Given the description of an element on the screen output the (x, y) to click on. 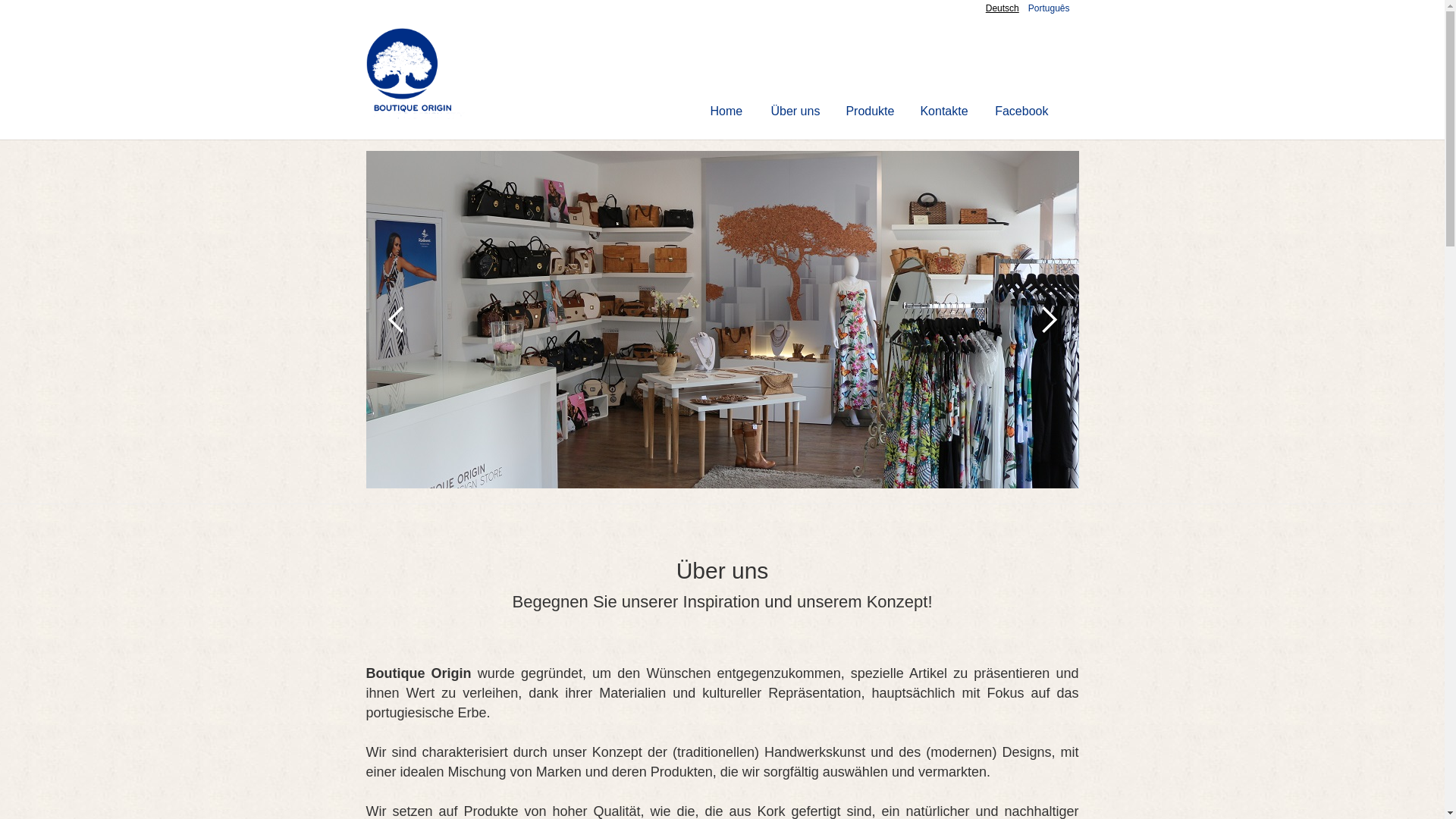
Kontakte Element type: text (943, 111)
Produkte Element type: text (869, 111)
Deutsch Element type: text (1002, 8)
Home Element type: text (726, 111)
Facebook Element type: text (1021, 111)
